Given the description of an element on the screen output the (x, y) to click on. 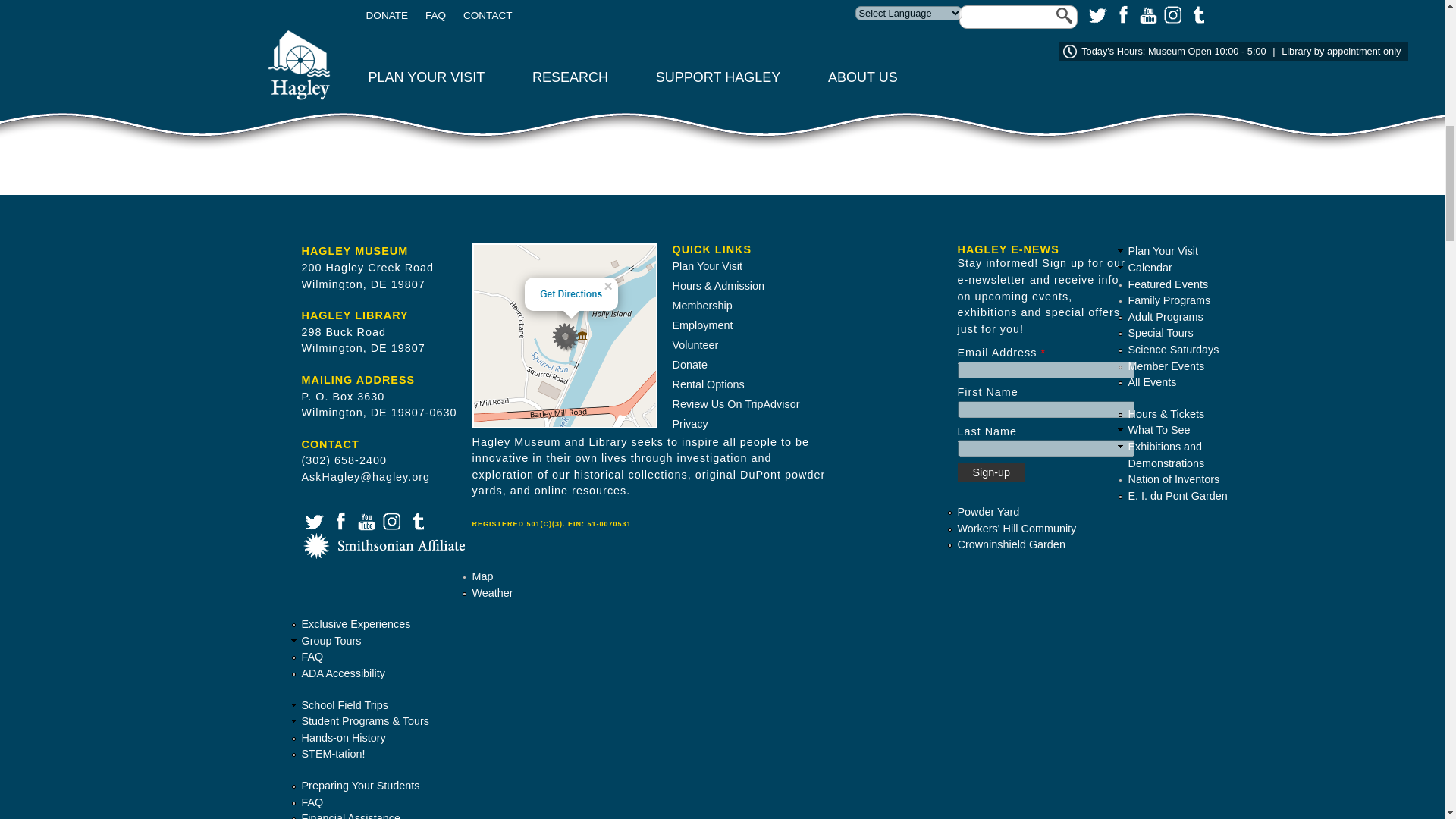
Sign-up (990, 472)
